Given the description of an element on the screen output the (x, y) to click on. 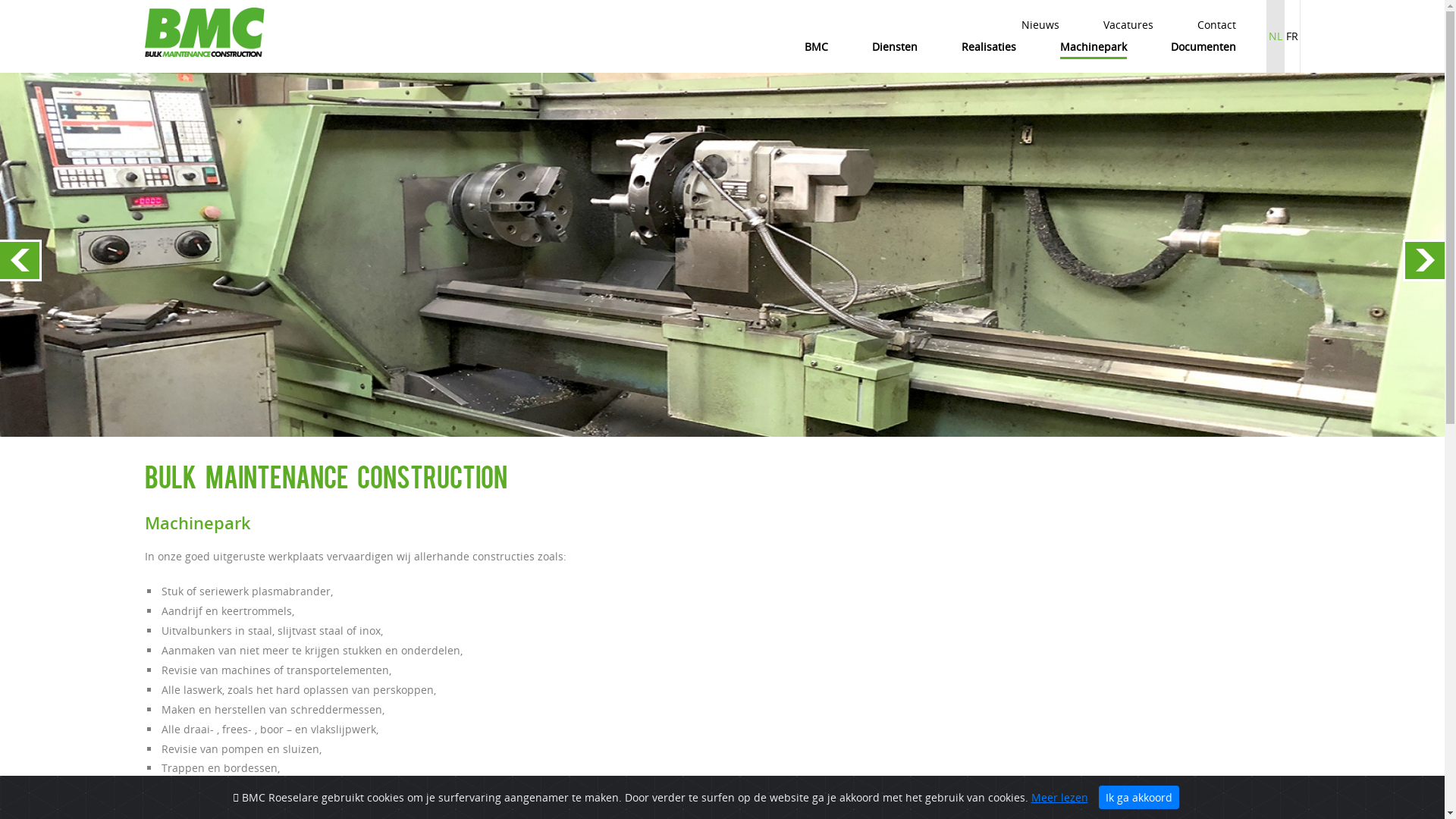
Contact Element type: text (1216, 24)
Meer lezen Element type: text (1059, 797)
FR Element type: text (1291, 36)
Documenten Element type: text (1202, 46)
NL Element type: text (1274, 36)
Machinepark Element type: text (1092, 48)
Vacatures Element type: text (1128, 24)
Nieuws Element type: text (1040, 24)
Ik ga akkoord Element type: text (1138, 797)
Diensten Element type: text (893, 46)
BMC Element type: text (816, 46)
Realisaties Element type: text (987, 46)
